Given the description of an element on the screen output the (x, y) to click on. 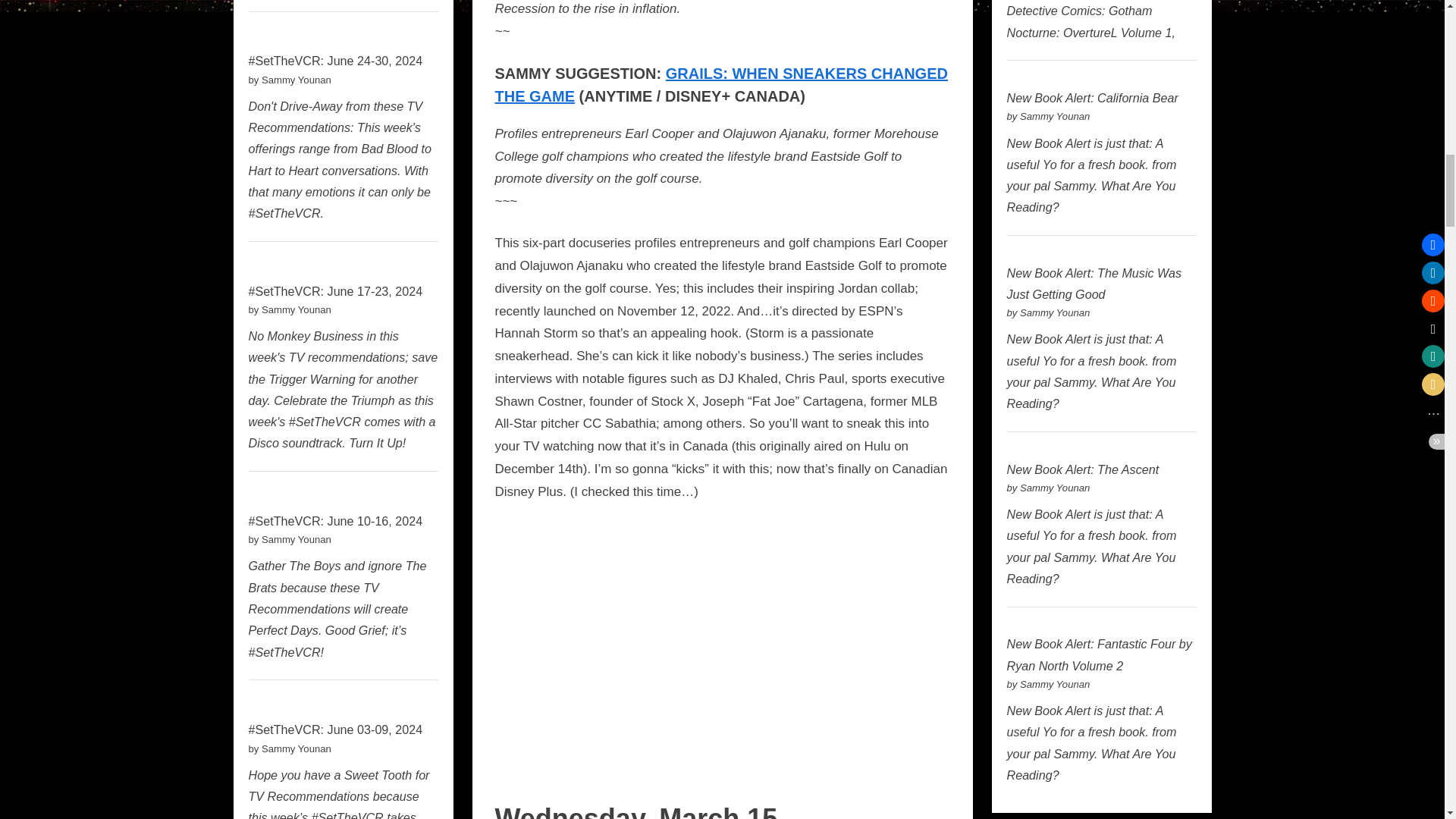
GRAILS: WHEN SNEAKERS CHANGED THE GAME (721, 84)
